Given the description of an element on the screen output the (x, y) to click on. 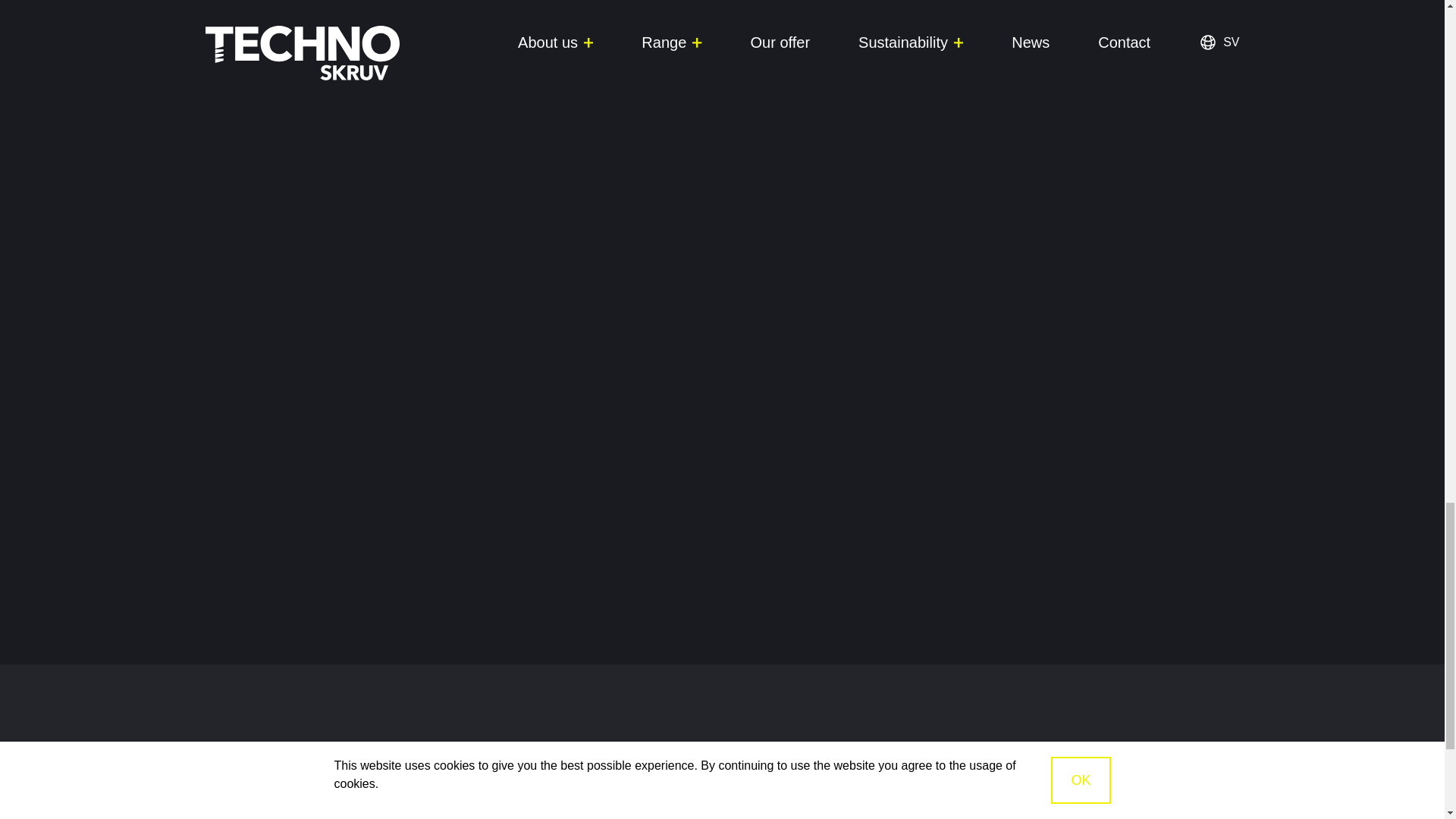
Facebook (1110, 811)
